Given the description of an element on the screen output the (x, y) to click on. 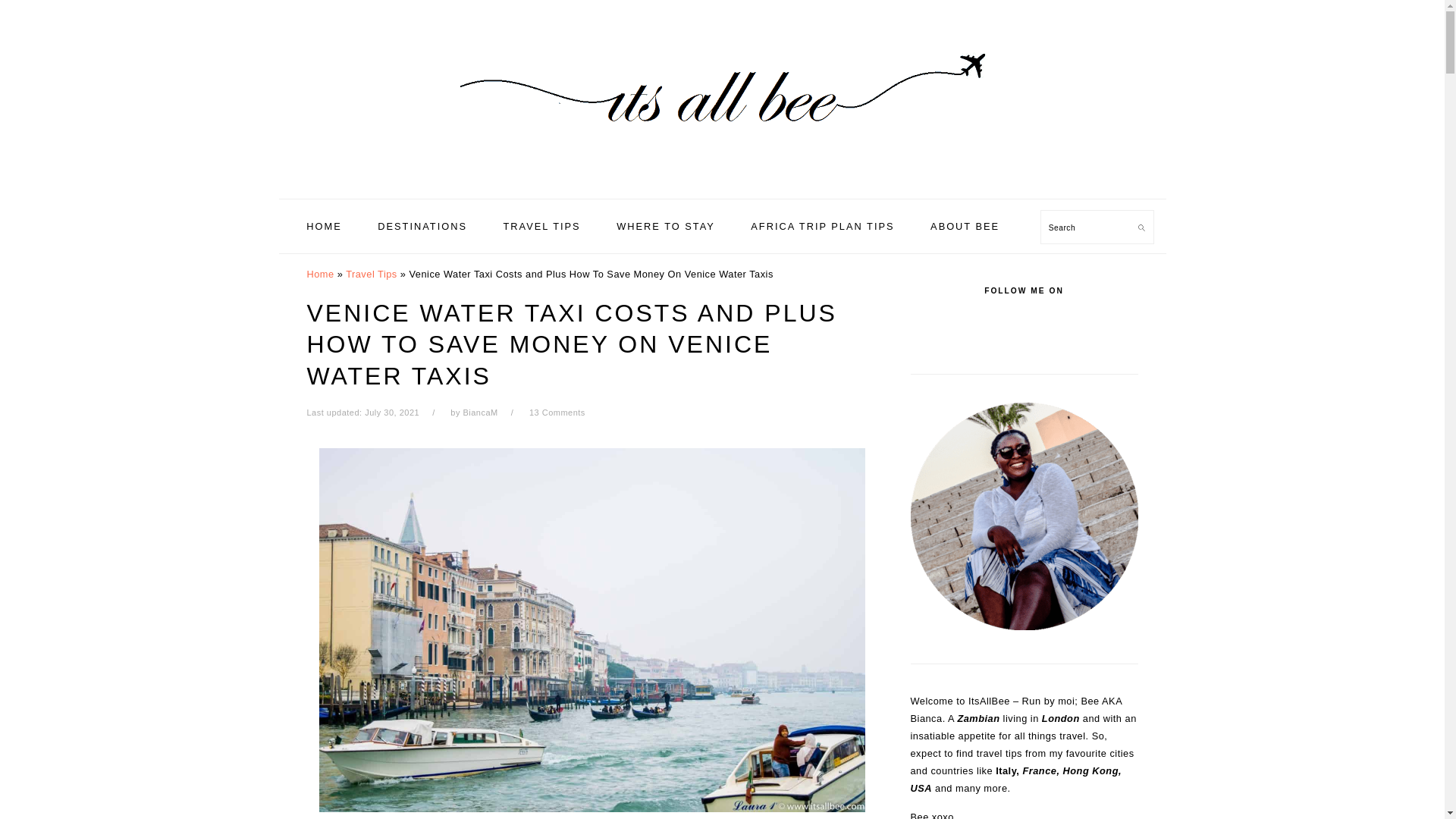
WHERE TO STAY (664, 226)
AFRICA TRIP PLAN TIPS (822, 226)
Travel Tips (371, 274)
TRAVEL TIPS (540, 226)
DESTINATIONS (422, 226)
13 Comments (557, 411)
ABOUT BEE (964, 226)
BiancaM (480, 411)
Home (319, 274)
HOME (322, 226)
